Given the description of an element on the screen output the (x, y) to click on. 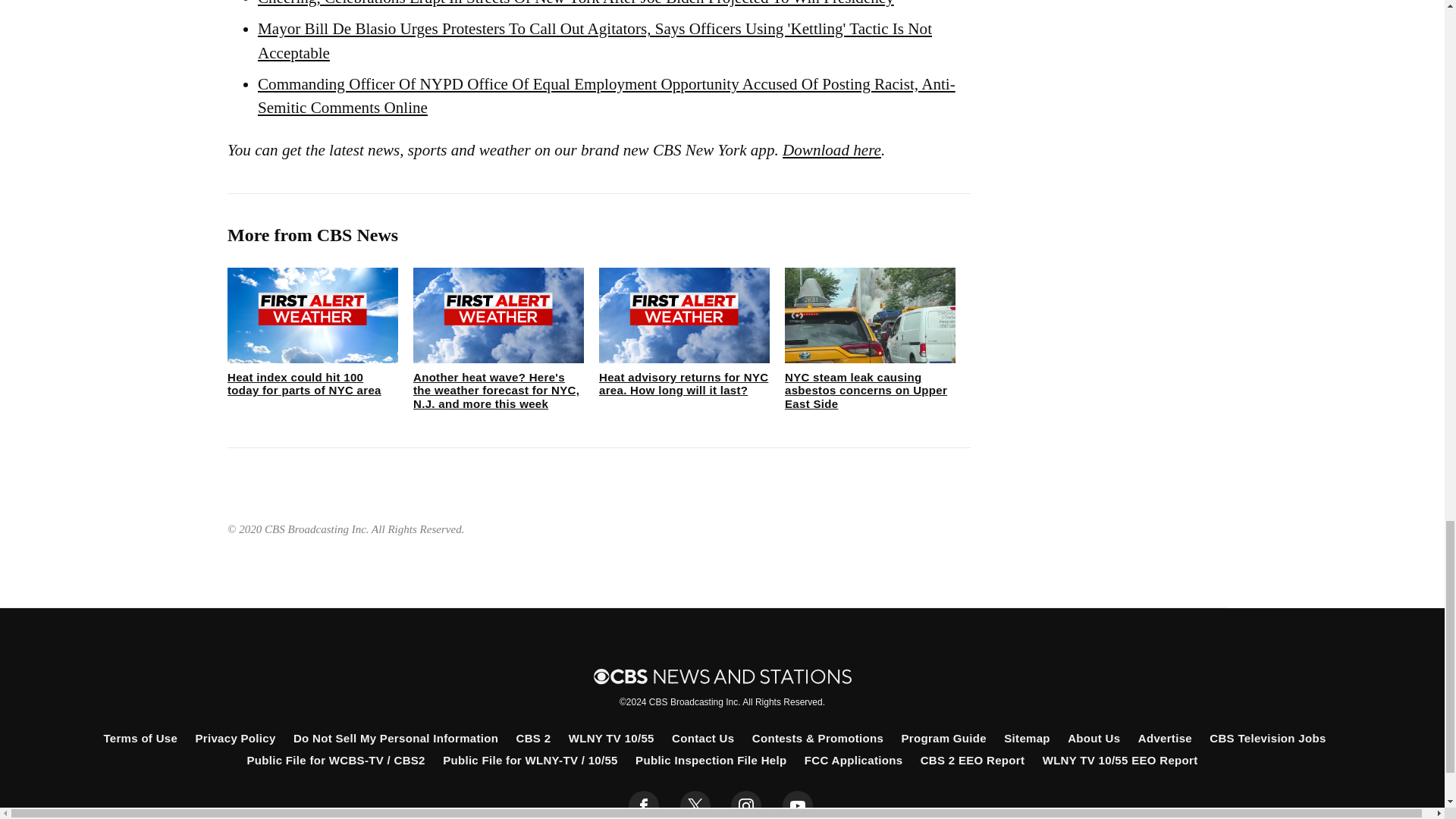
youtube (797, 805)
facebook (643, 805)
instagram (745, 805)
twitter (694, 805)
